Given the description of an element on the screen output the (x, y) to click on. 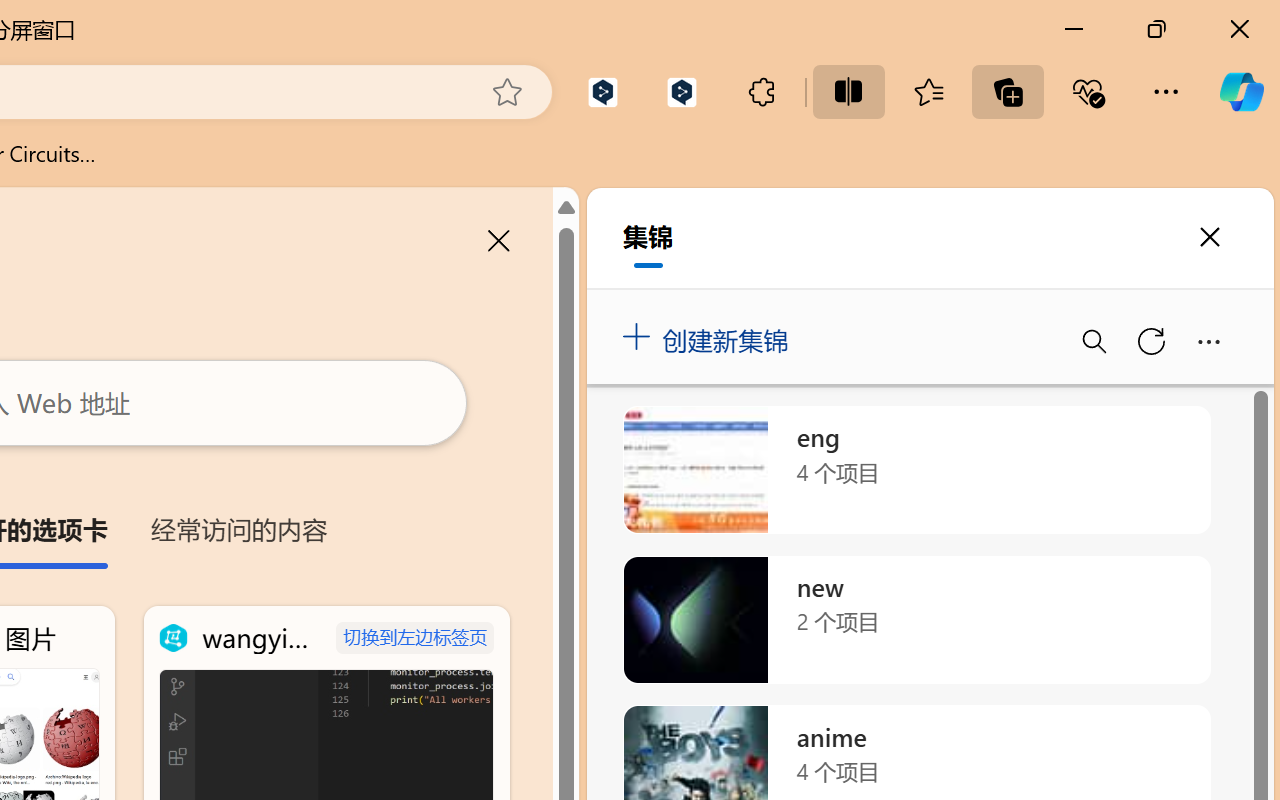
Copilot (Ctrl+Shift+.) (1241, 91)
